Given the description of an element on the screen output the (x, y) to click on. 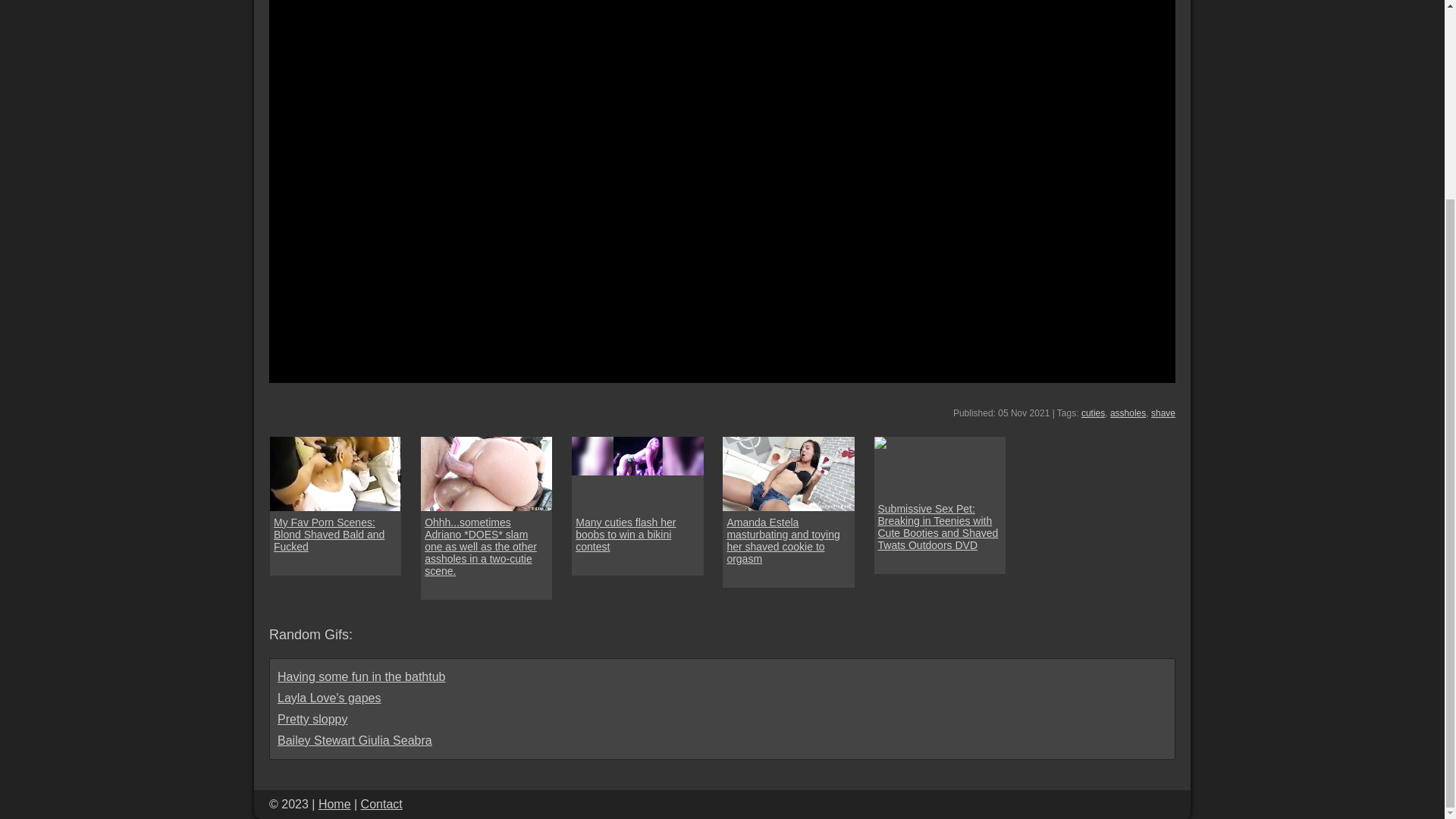
Many cuties flash her boobs to win a bikini contest (636, 534)
assholes (1127, 412)
My Fav Porn Scenes: Blond Shaved Bald and Fucked (335, 473)
Contact (382, 804)
Having some fun in the bathtub (361, 676)
Many cuties flash her boobs to win a bikini contest (637, 473)
Bailey Stewart Giulia Seabra (355, 740)
Layla Love's gapes (329, 698)
Pretty sloppy (312, 719)
Layla Love's gapes (329, 698)
Many cuties flash her boobs to win a bikini contest (636, 534)
